Given the description of an element on the screen output the (x, y) to click on. 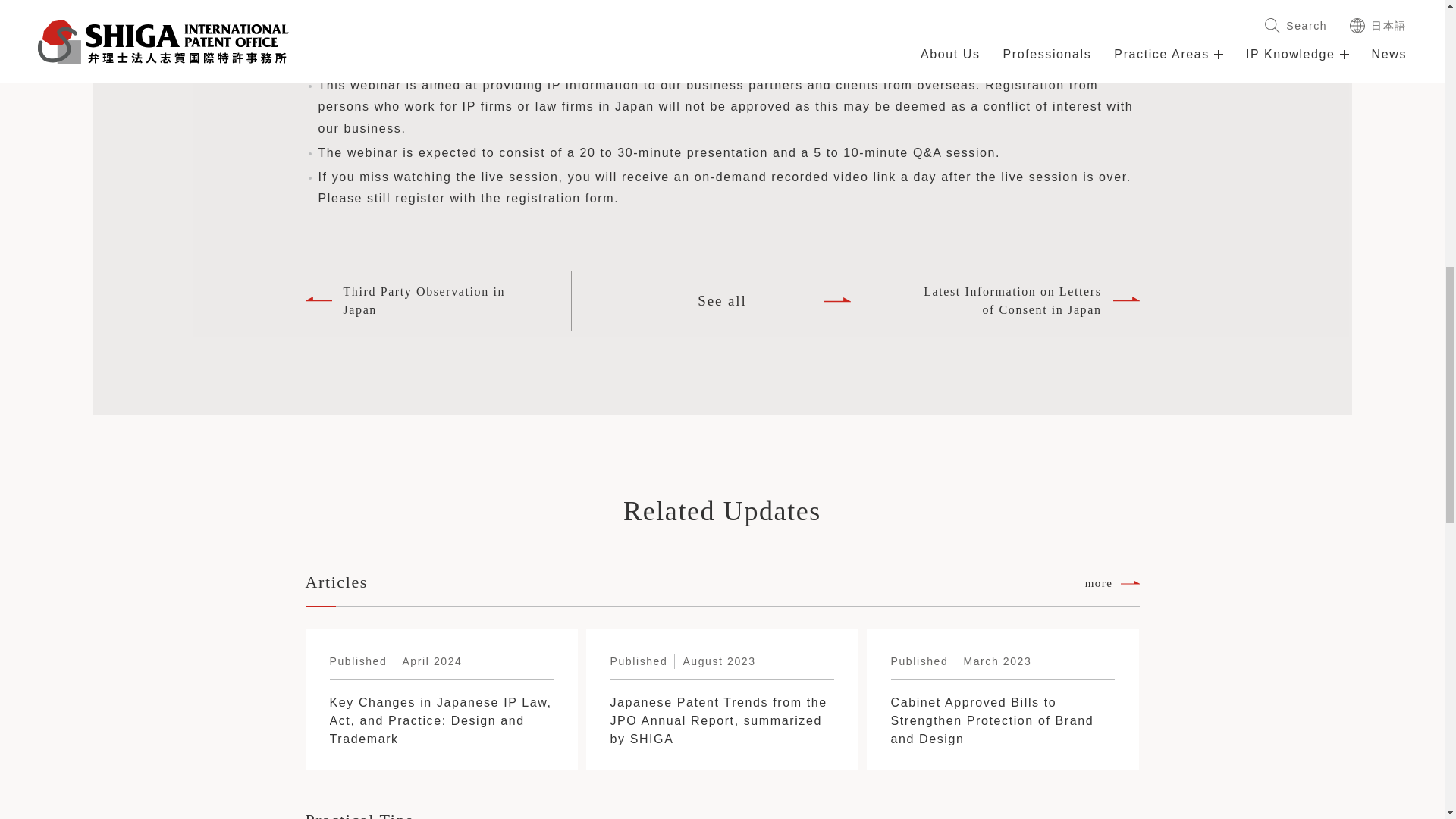
more (1112, 583)
more (1112, 816)
See all (721, 301)
Latest Information on Letters of Consent in Japan (1024, 300)
Third Party Observation in Japan (418, 300)
